Given the description of an element on the screen output the (x, y) to click on. 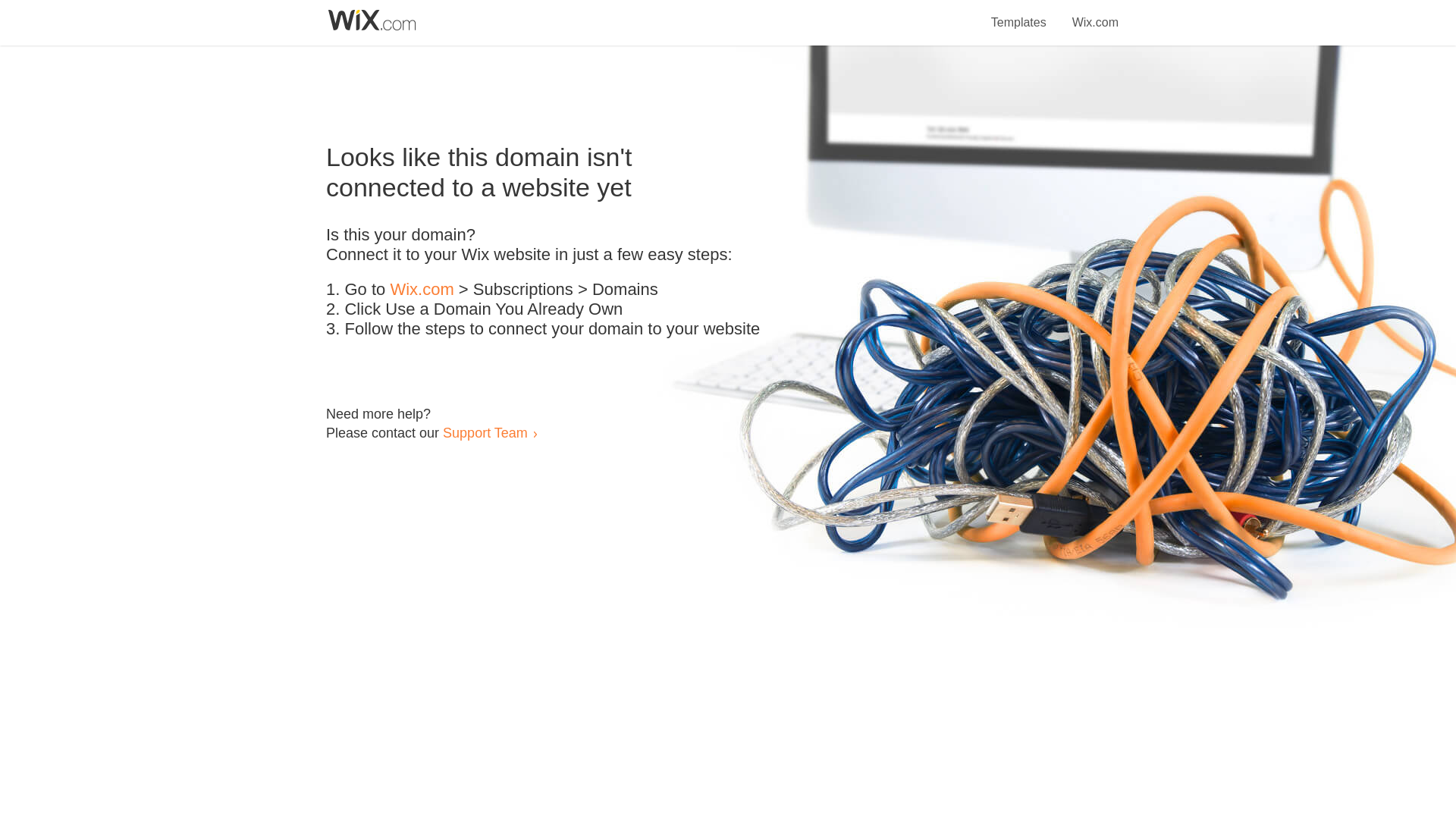
Wix.com (421, 289)
Support Team (484, 432)
Templates (1018, 14)
Wix.com (1095, 14)
